Given the description of an element on the screen output the (x, y) to click on. 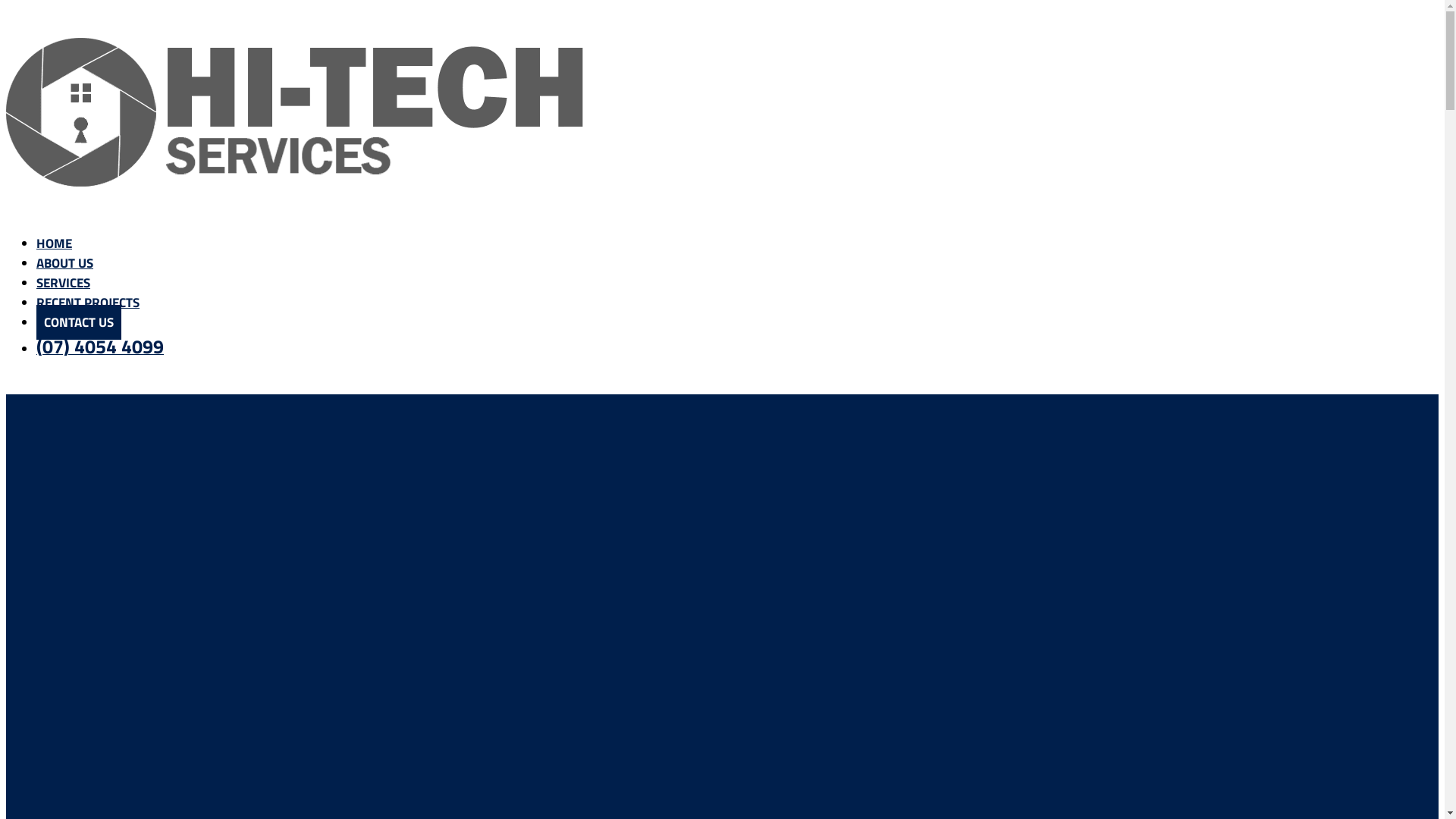
hitech-grey-services-left Element type: hover (296, 110)
(07) 4054 4099 Element type: text (99, 348)
ABOUT US Element type: text (64, 263)
SERVICES Element type: text (63, 282)
RECENT PROJECTS Element type: text (87, 302)
HOME Element type: text (54, 243)
CONTACT US Element type: text (78, 321)
